Given the description of an element on the screen output the (x, y) to click on. 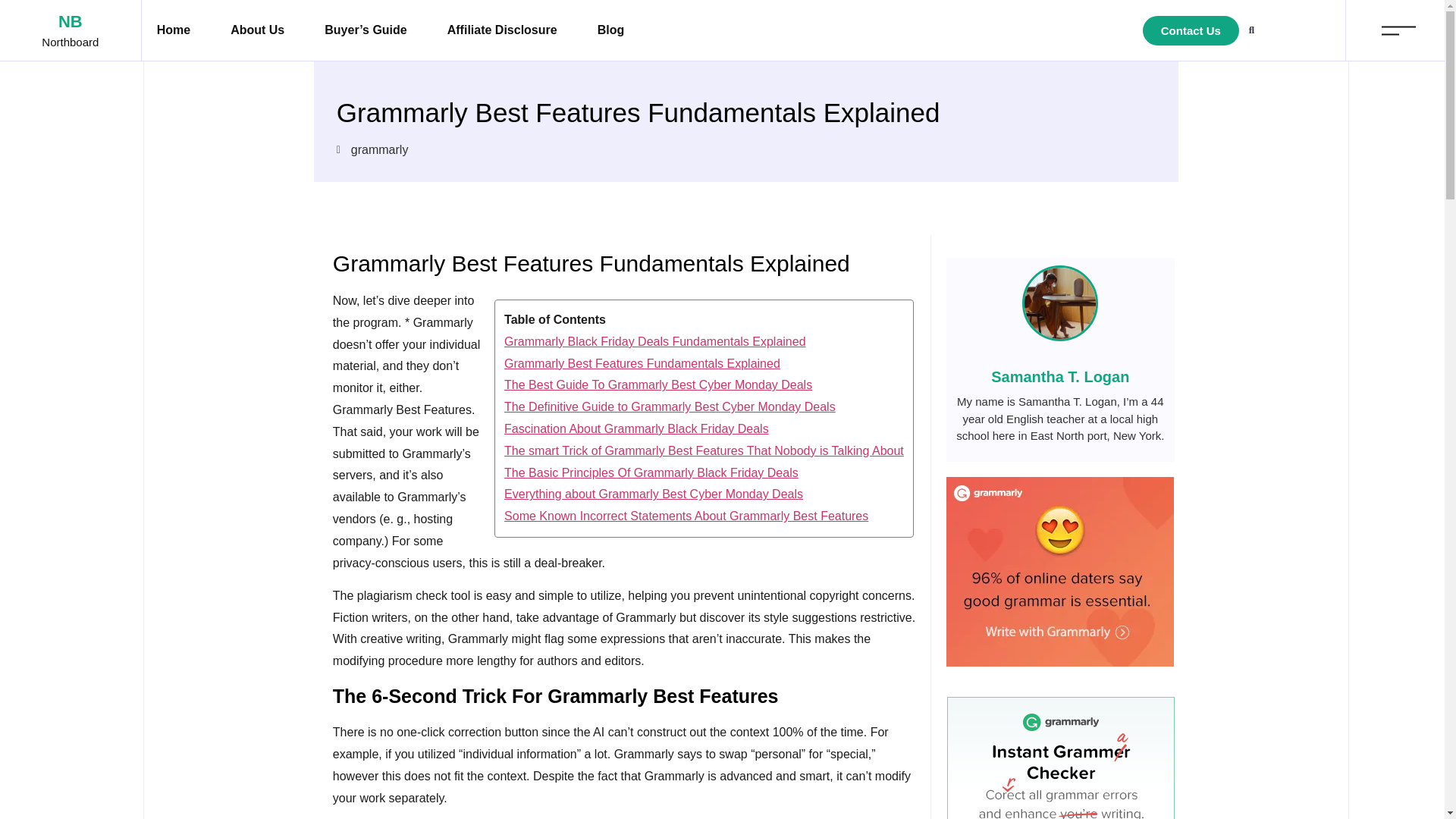
Affiliate Disclosure (502, 30)
The Definitive Guide to Grammarly Best Cyber Monday Deals (703, 407)
grammarly (379, 149)
About Us (257, 30)
Grammarly Best Features Fundamentals Explained (703, 363)
Contact Us (1190, 30)
Fascination About Grammarly Black Friday Deals (703, 429)
Home (173, 30)
Grammarly Black Friday Deals Fundamentals Explained (703, 341)
The Basic Principles Of Grammarly Black Friday Deals (703, 473)
The Best Guide To Grammarly Best Cyber Monday Deals (703, 385)
Everything about Grammarly Best Cyber Monday Deals (703, 495)
Blog (611, 30)
